Given the description of an element on the screen output the (x, y) to click on. 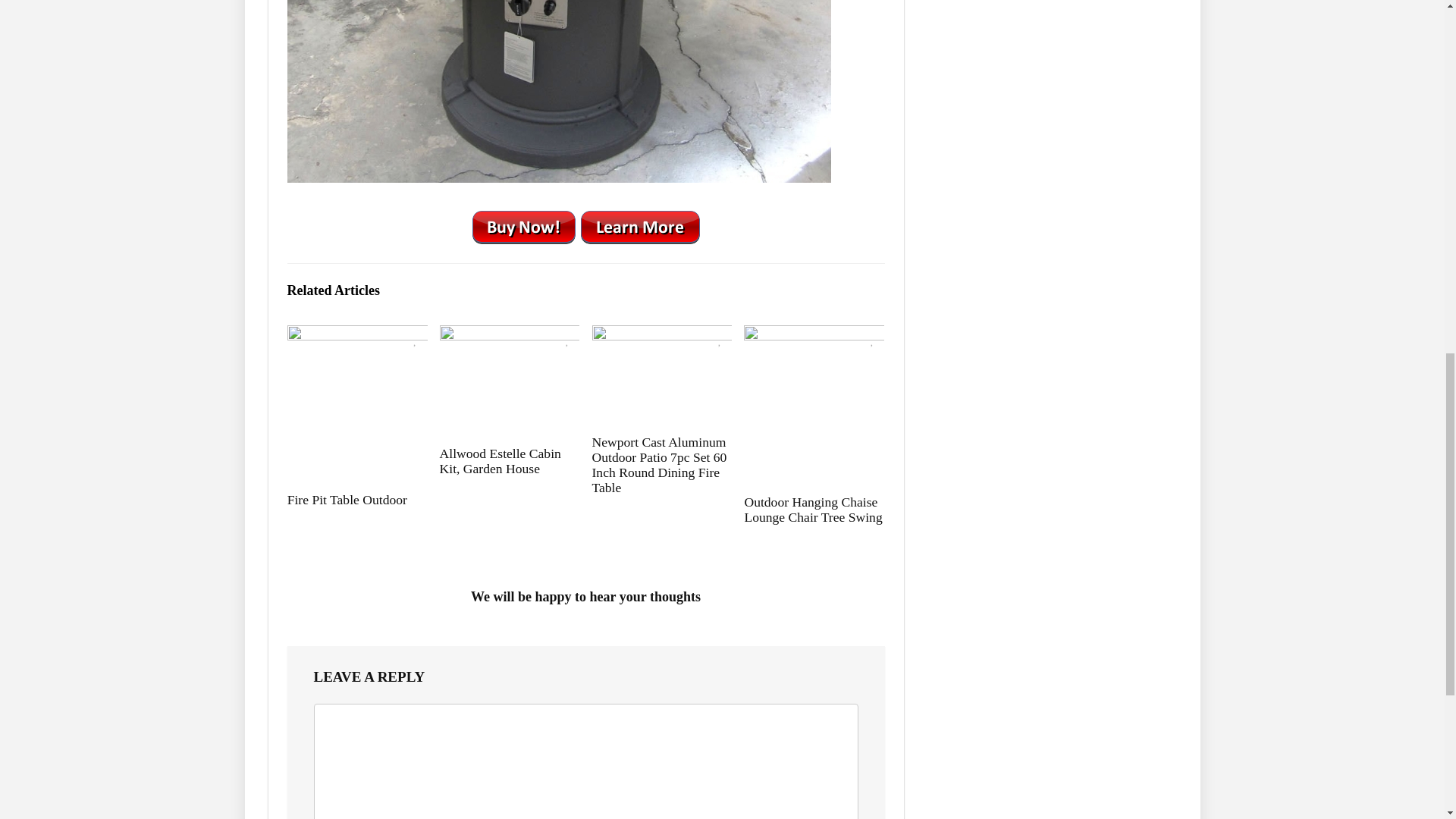
Learn more or Buy now! (584, 225)
Allwood Estelle Cabin Kit, Garden House (499, 460)
Fire Pit Table Outdoor (346, 499)
Outdoor Hanging Chaise Lounge Chair Tree Swing (813, 509)
